Given the description of an element on the screen output the (x, y) to click on. 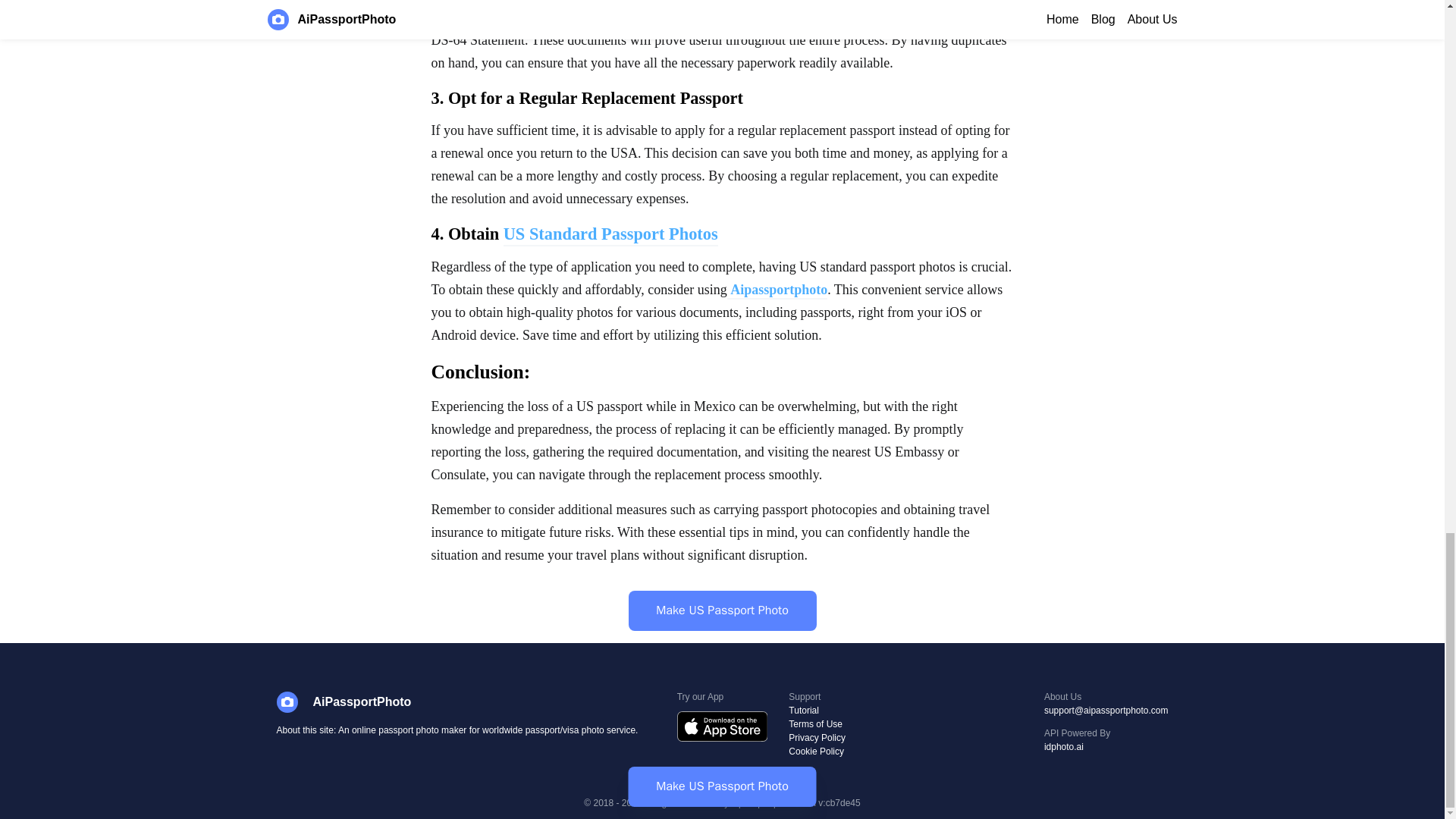
Aipassportphoto (778, 290)
US Standard Passport Photos (610, 235)
Make US Passport Photo (721, 610)
idphoto.ai (1106, 747)
